Given the description of an element on the screen output the (x, y) to click on. 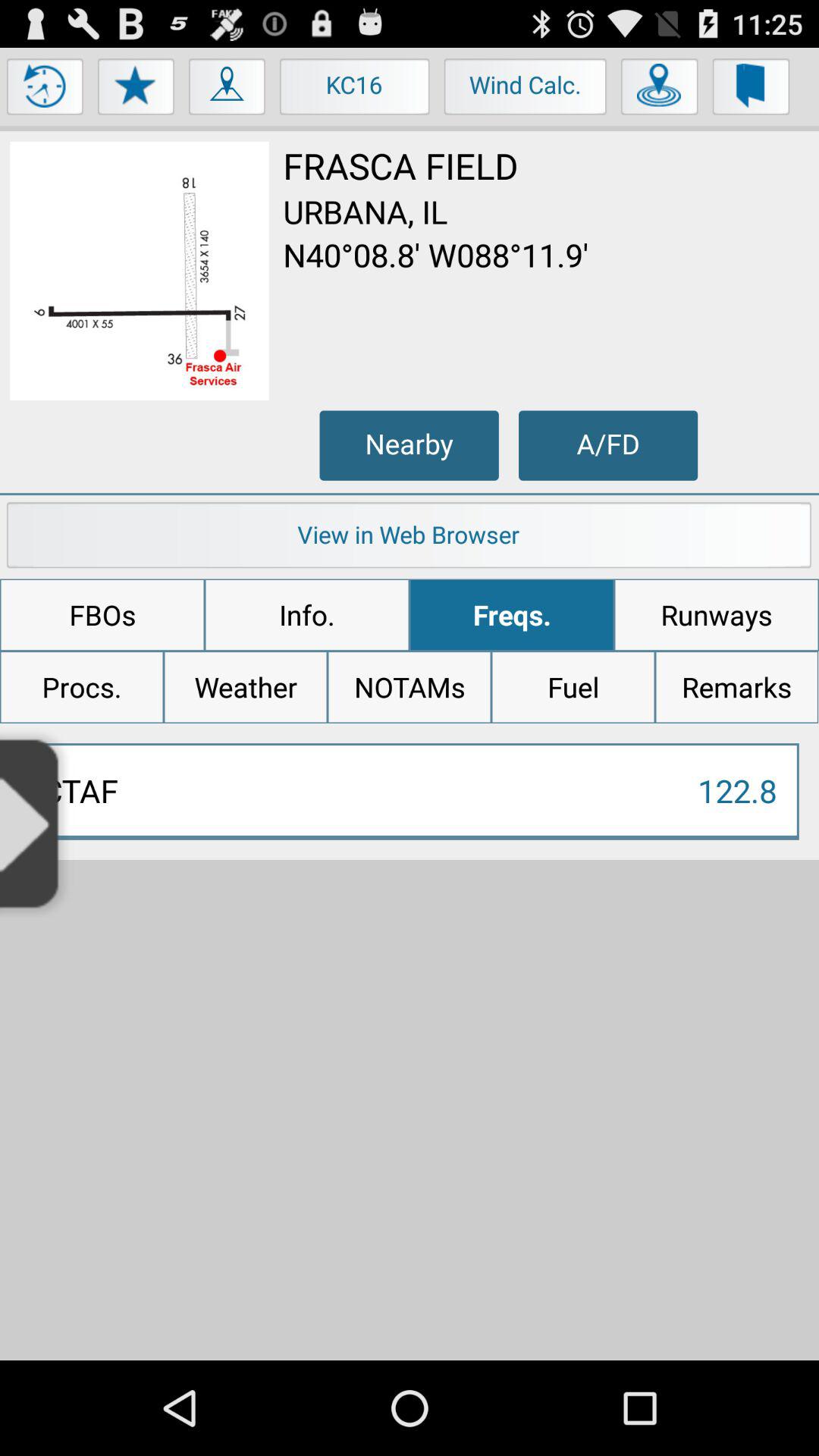
turn off the button next to kc16 (525, 90)
